Given the description of an element on the screen output the (x, y) to click on. 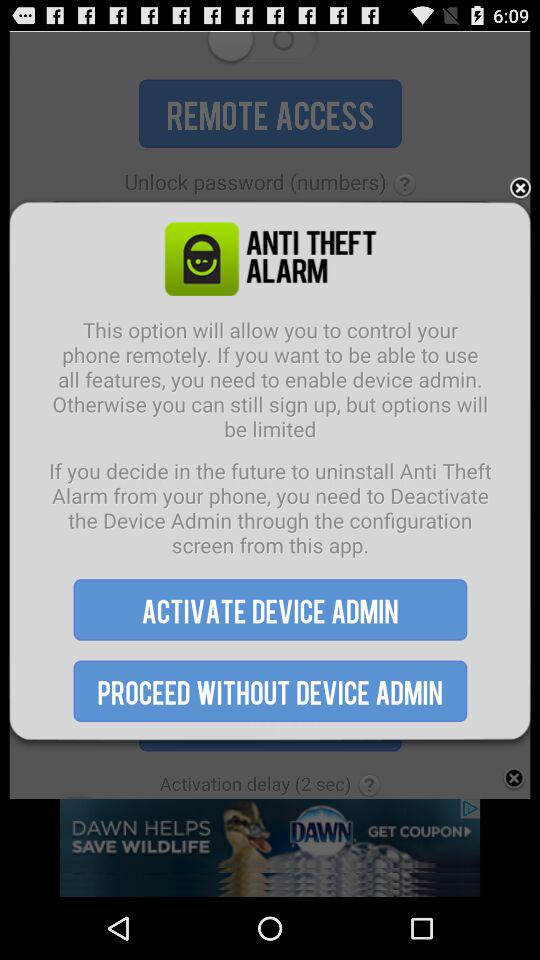
press the button below the activate device admin icon (270, 690)
